Given the description of an element on the screen output the (x, y) to click on. 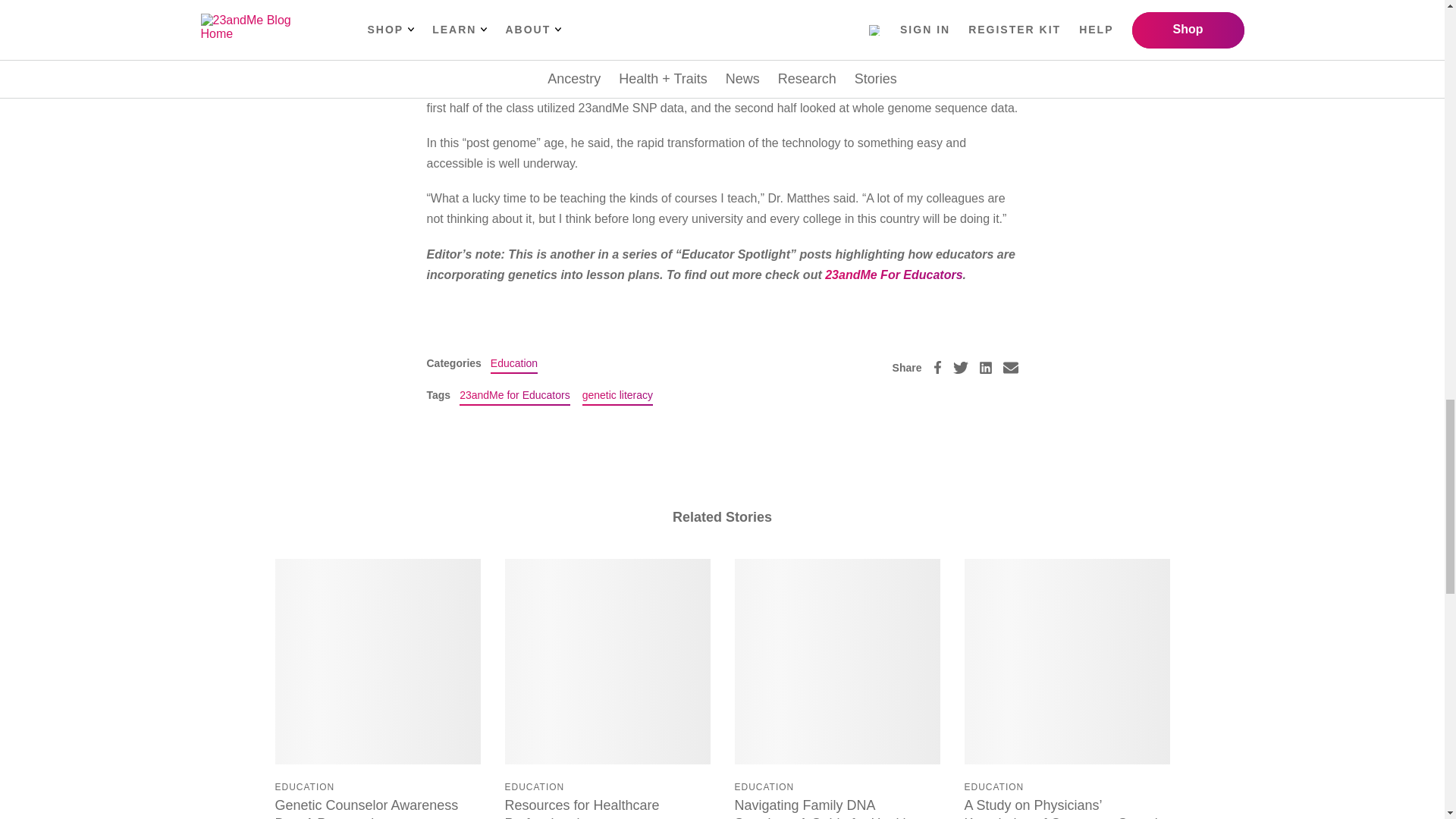
23andMe For Educators (893, 274)
genetic literacy (617, 394)
23andMe for Educators (515, 394)
Education (513, 362)
